Given the description of an element on the screen output the (x, y) to click on. 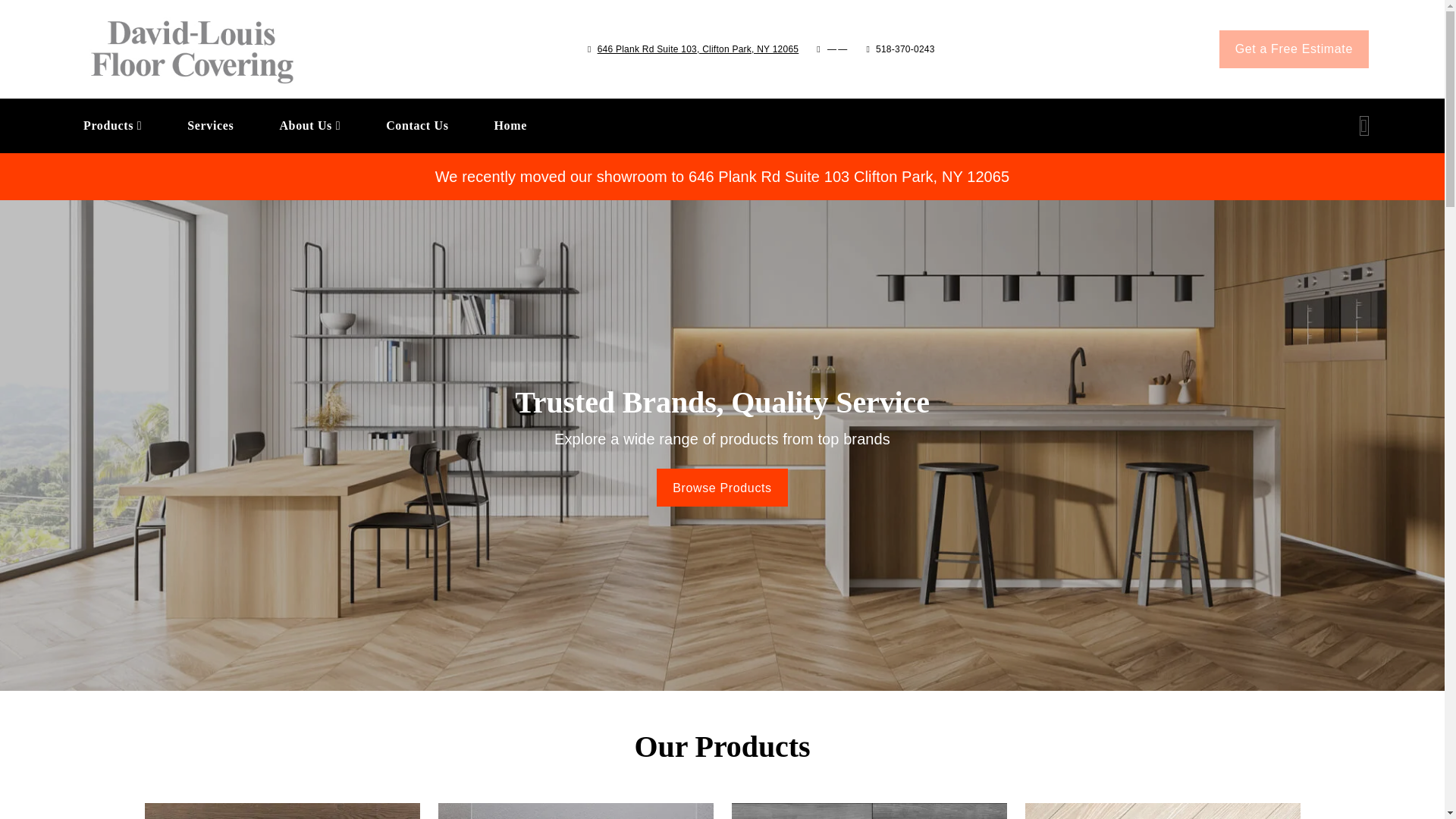
646 Plank Rd Suite 103, Clifton Park, NY 12065 (697, 48)
Home (678, 125)
Get a Free Estimate (510, 124)
About Us (678, 125)
518-370-0243 (1294, 48)
Services (308, 124)
Contact Us (905, 48)
Products (210, 124)
